Given the description of an element on the screen output the (x, y) to click on. 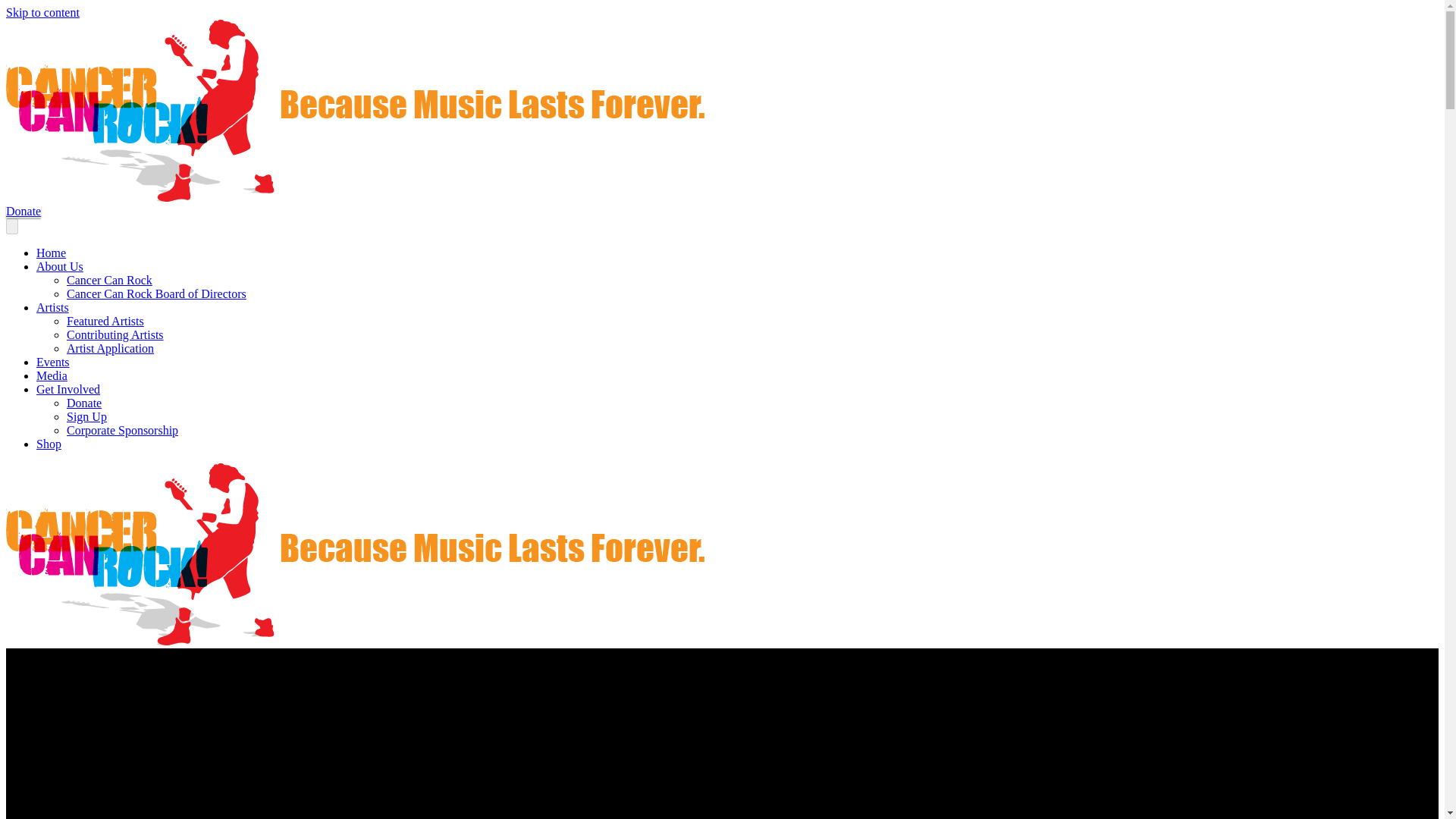
Skip to content (42, 11)
Header-240px-1 (354, 554)
Corporate Sponsorship (121, 430)
About Us (59, 266)
Cancer Can Rock (109, 279)
Sign Up (86, 416)
Media (51, 375)
Home (50, 252)
Cancer Can Rock Board of Directors (156, 293)
Donate (22, 210)
Shop (48, 443)
Donate (83, 402)
Header-240px-1 (354, 110)
Get Involved (68, 389)
Artists (52, 307)
